Given the description of an element on the screen output the (x, y) to click on. 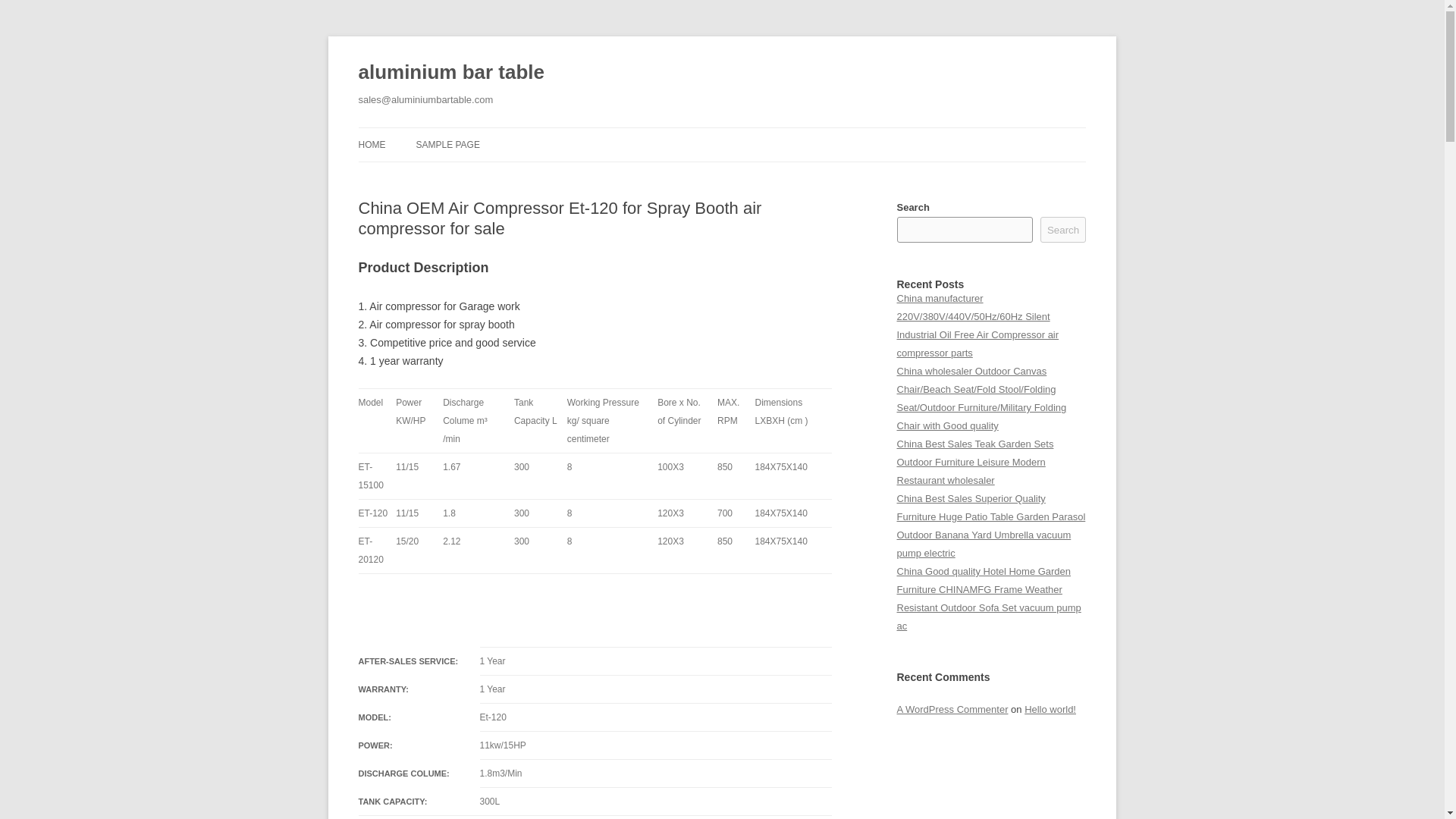
aluminium bar table (450, 72)
A WordPress Commenter (951, 708)
SAMPLE PAGE (446, 144)
Search (1063, 229)
Hello world! (1050, 708)
